Given the description of an element on the screen output the (x, y) to click on. 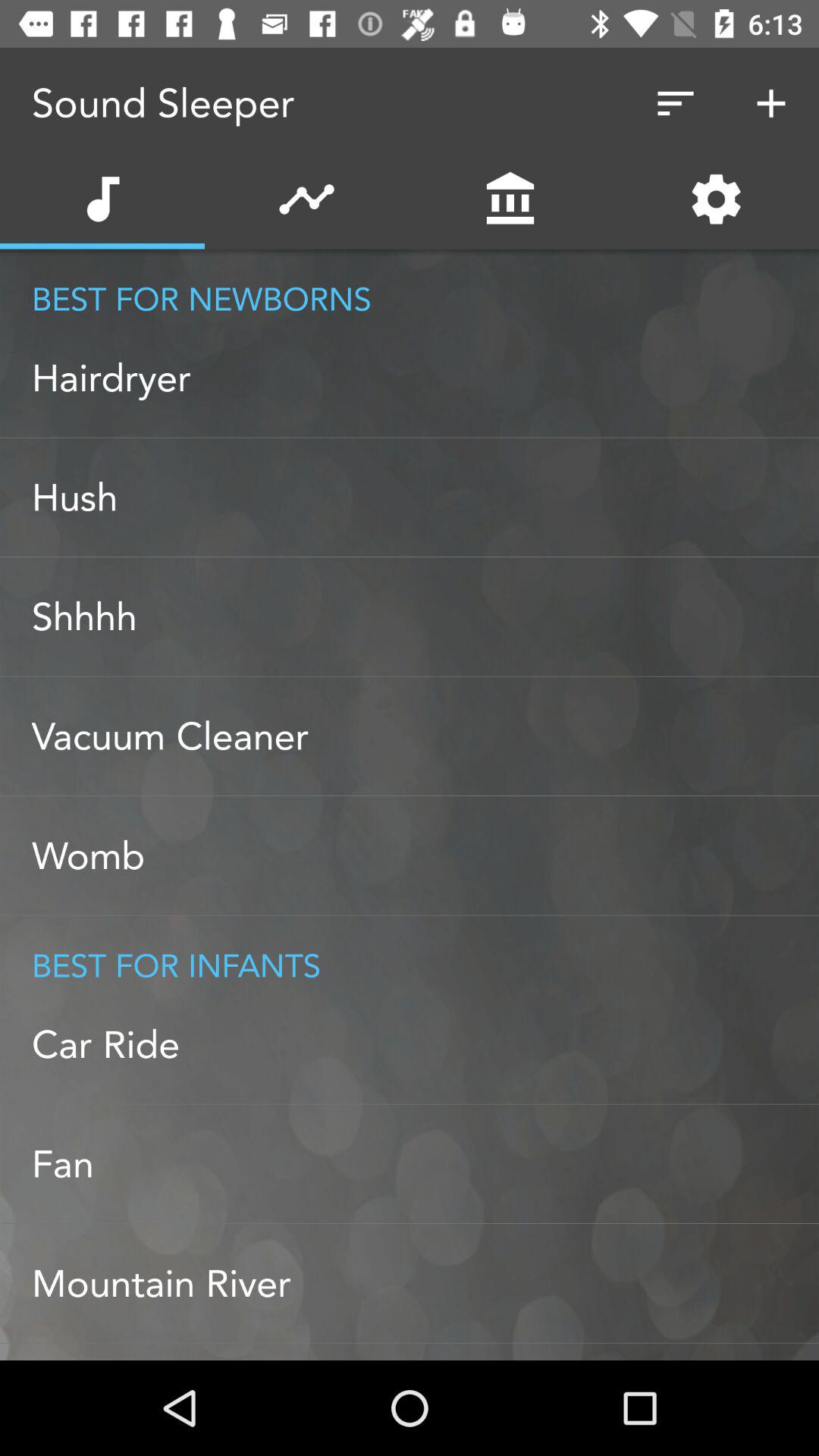
turn on hush icon (425, 497)
